Given the description of an element on the screen output the (x, y) to click on. 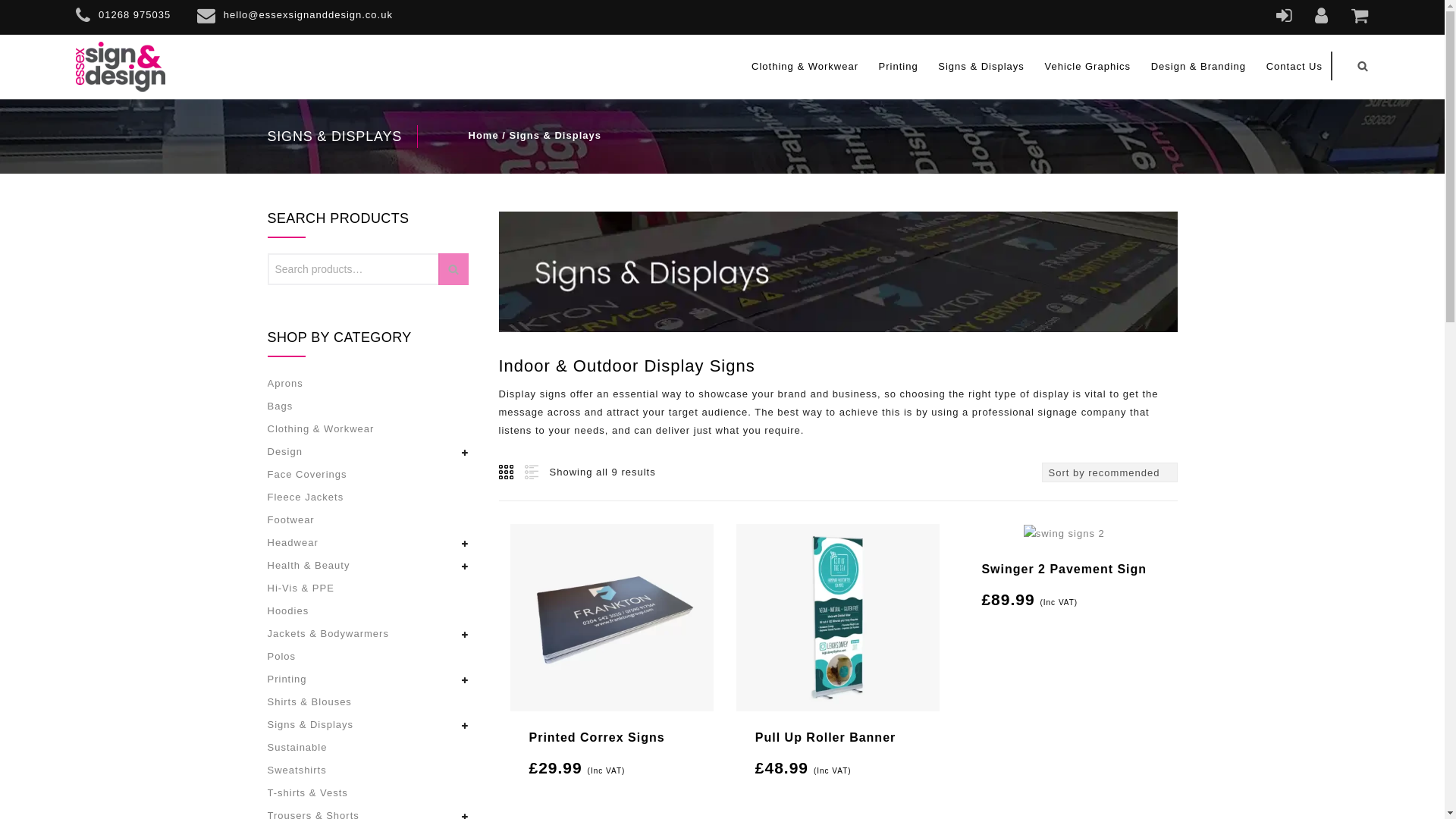
List view (529, 472)
Printing (898, 75)
Grid view (507, 472)
Login (1284, 18)
01268 975035 (122, 18)
